Given the description of an element on the screen output the (x, y) to click on. 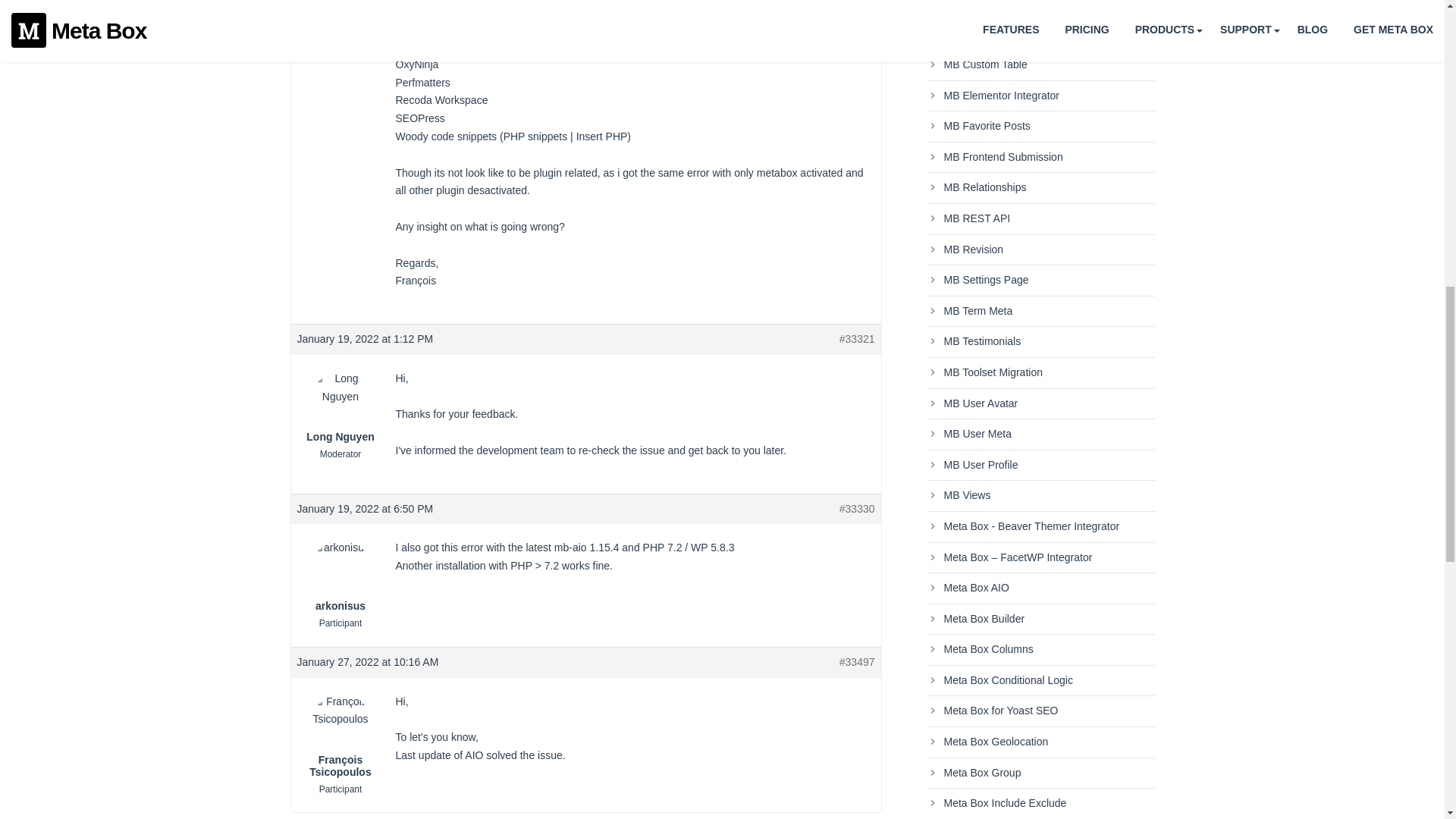
arkonisus (340, 576)
View Long Nguyen's profile (340, 416)
Long Nguyen (340, 416)
View arkonisus's profile (340, 576)
